Given the description of an element on the screen output the (x, y) to click on. 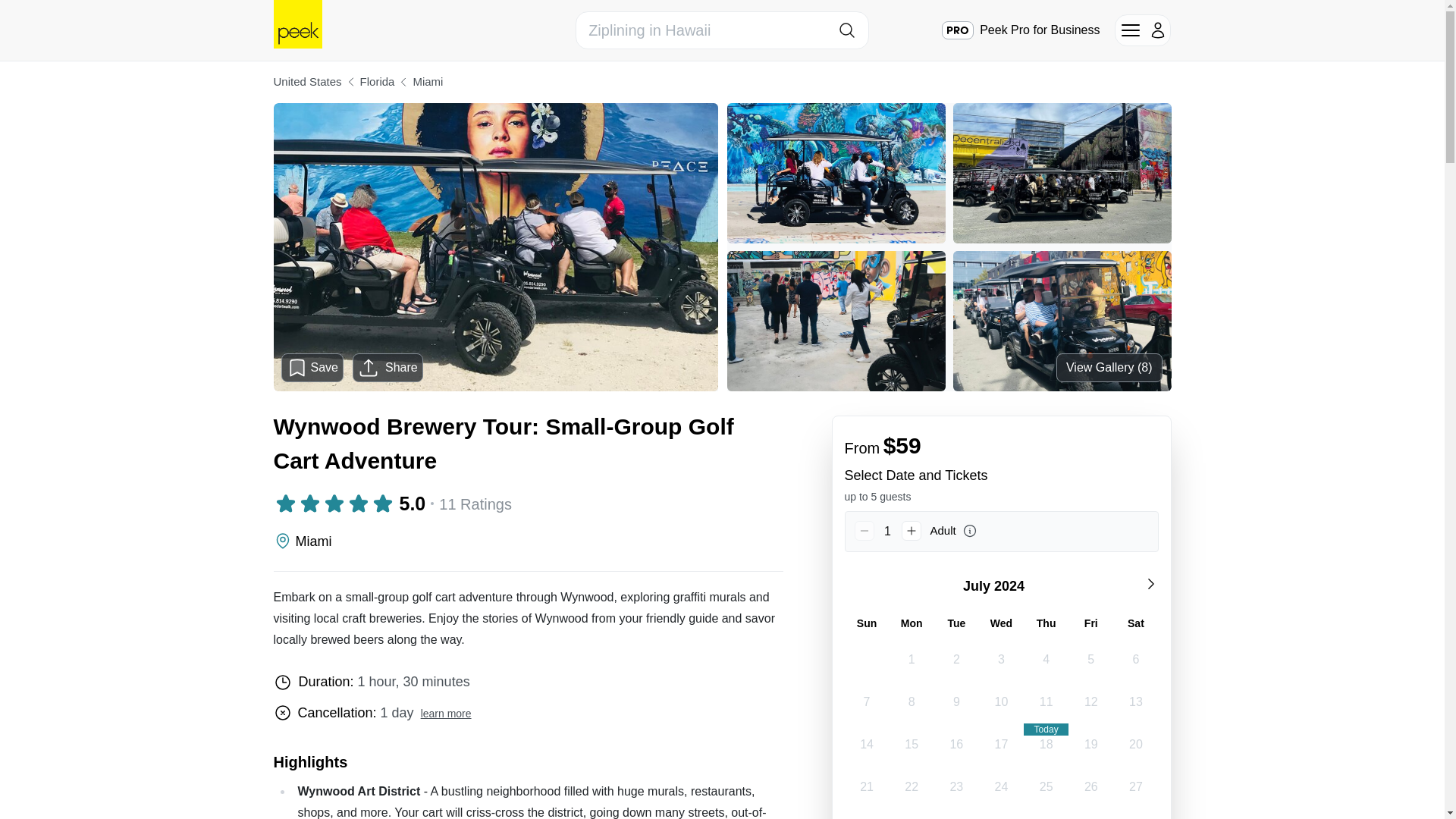
Share (387, 367)
learn more (445, 713)
Save (311, 367)
Peek Pro for Business (1020, 29)
Miami (427, 81)
Wynwood Brewery Tour: Small-Group Golf Cart Adventure (528, 443)
Florida (376, 81)
United States (306, 81)
